Given the description of an element on the screen output the (x, y) to click on. 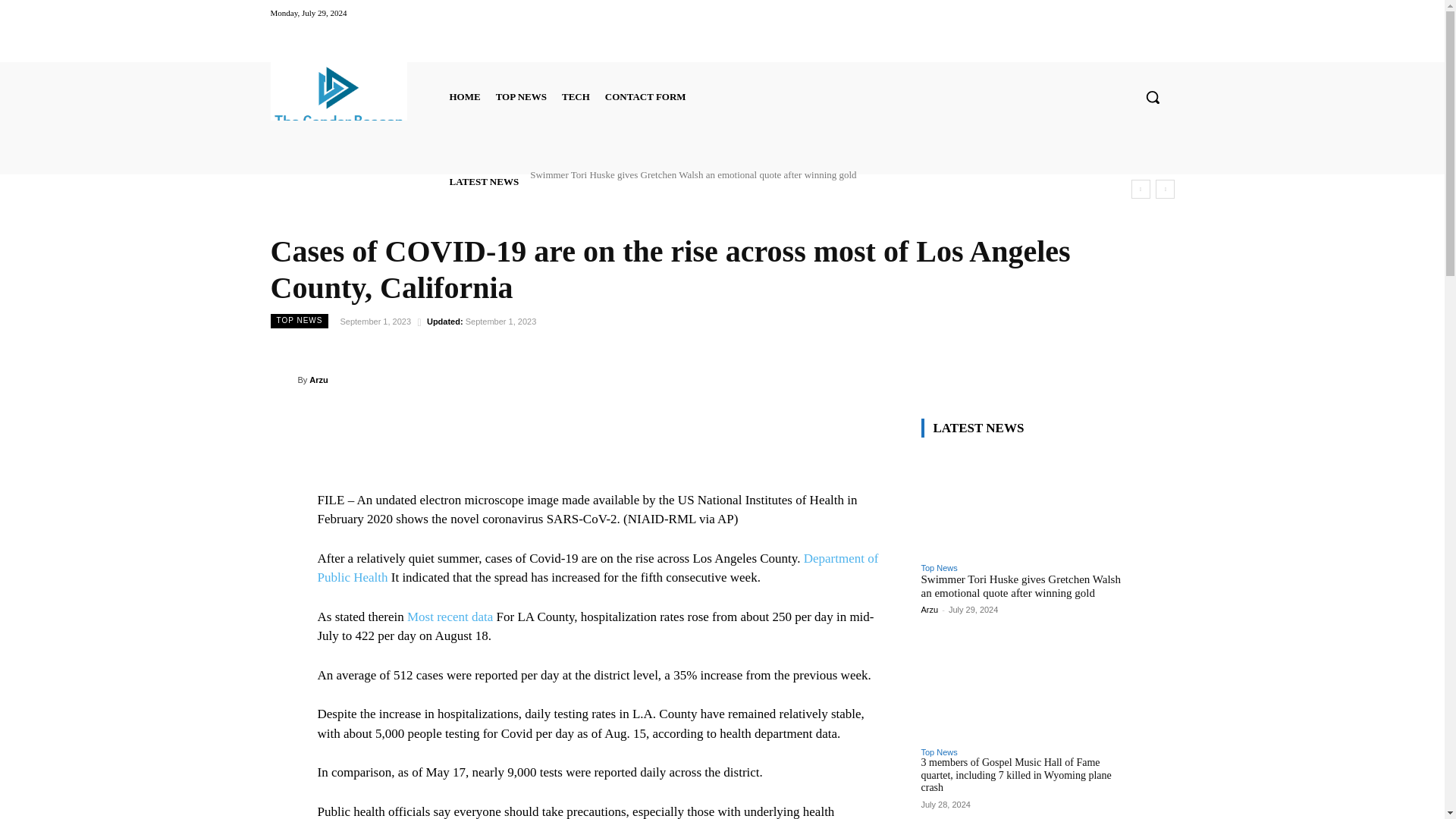
HOME (464, 96)
Most recent data (450, 616)
CONTACT FORM (645, 96)
Department of Public Health (597, 568)
Arzu (283, 379)
TOP NEWS (299, 320)
TECH (575, 96)
TOP NEWS (521, 96)
